Given the description of an element on the screen output the (x, y) to click on. 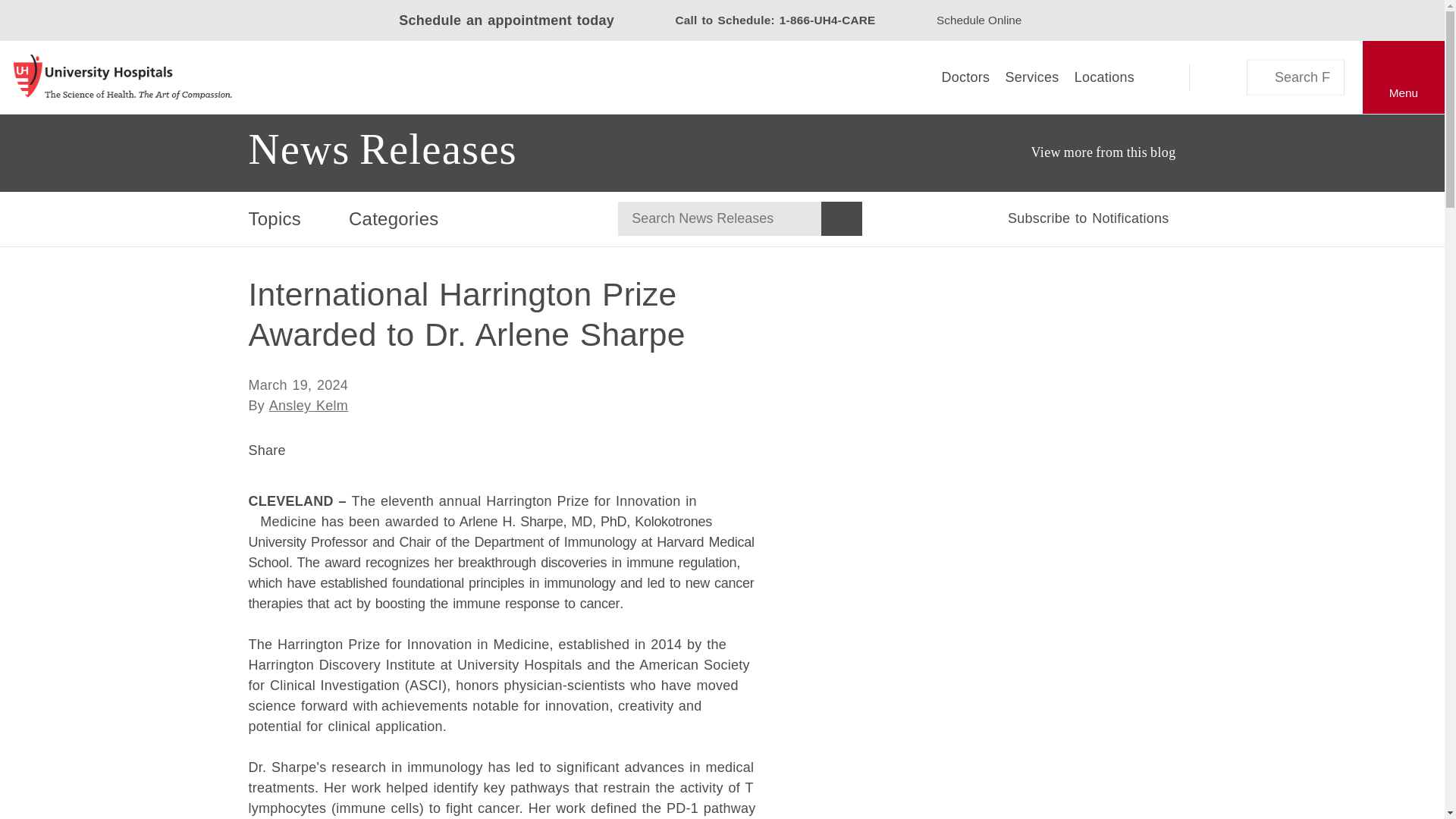
Call to Schedule: 1-866-UH4-CARE (763, 20)
Schedule Online (978, 20)
